Given the description of an element on the screen output the (x, y) to click on. 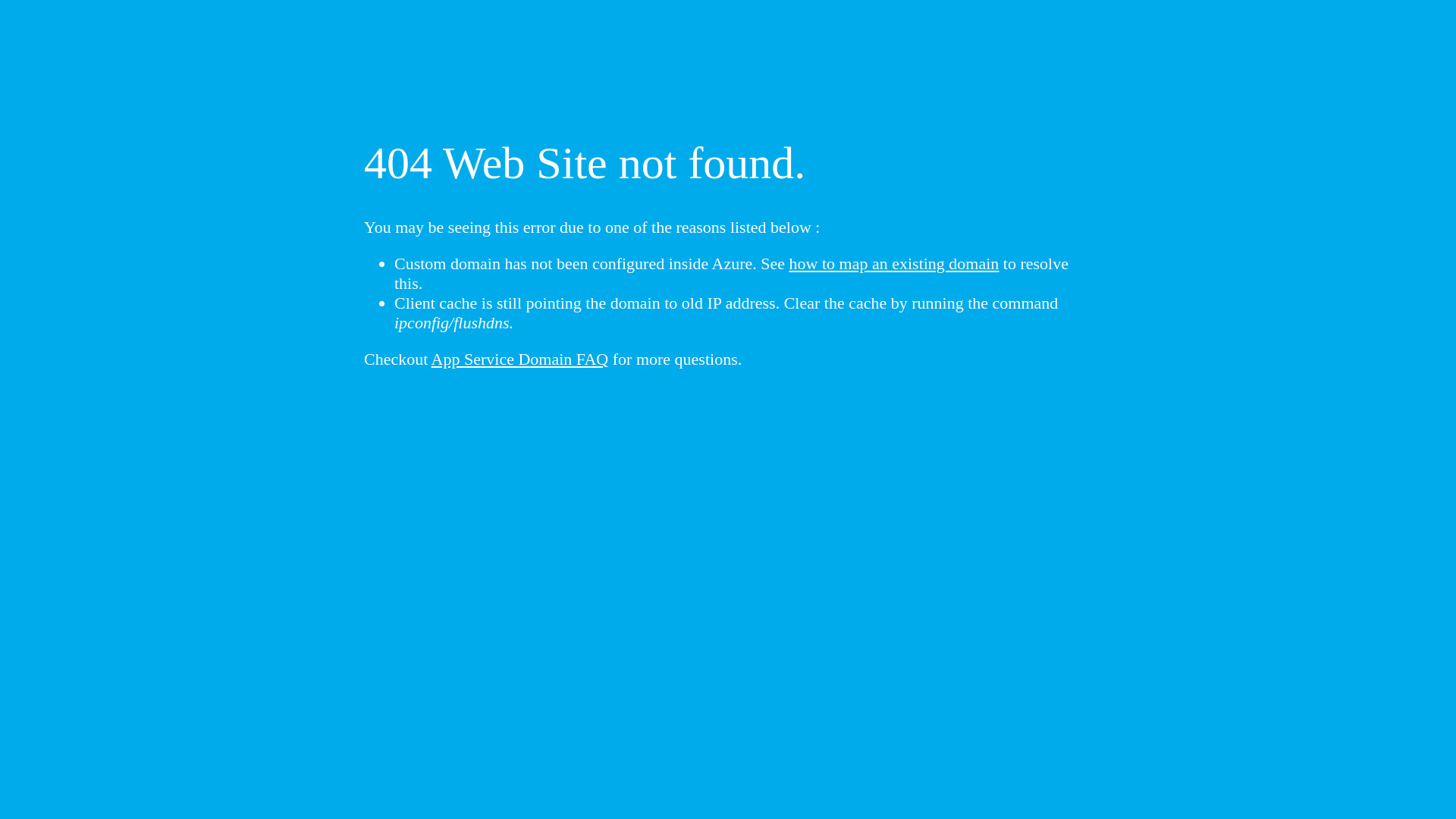
how to map an existing domain Element type: text (894, 263)
App Service Domain FAQ Element type: text (519, 358)
